Given the description of an element on the screen output the (x, y) to click on. 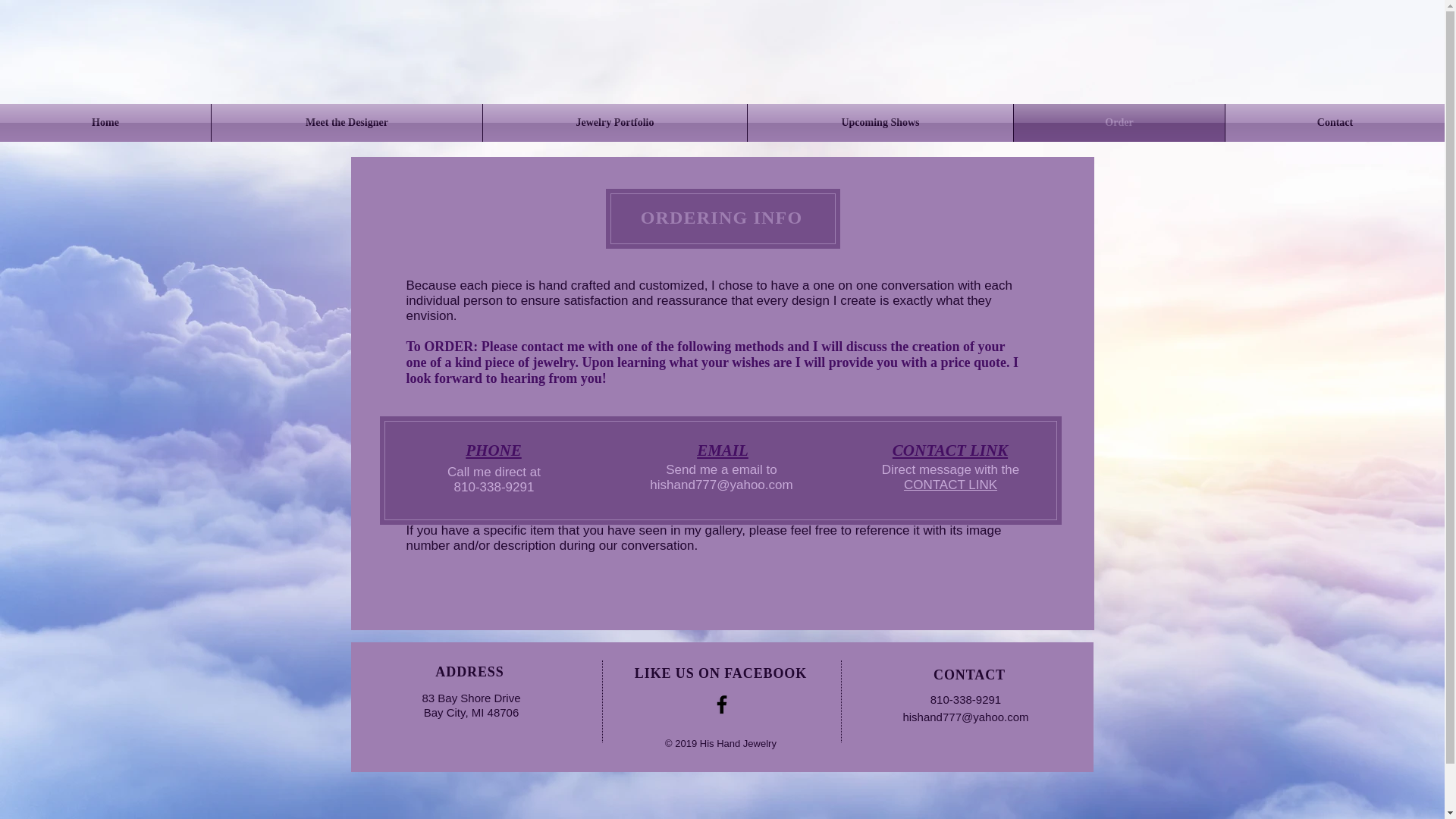
Upcoming Shows (880, 122)
Home (105, 122)
Meet the Designer (346, 122)
Jewelry Portfolio (614, 122)
Order (1118, 122)
CONTACT LINK (950, 484)
